Given the description of an element on the screen output the (x, y) to click on. 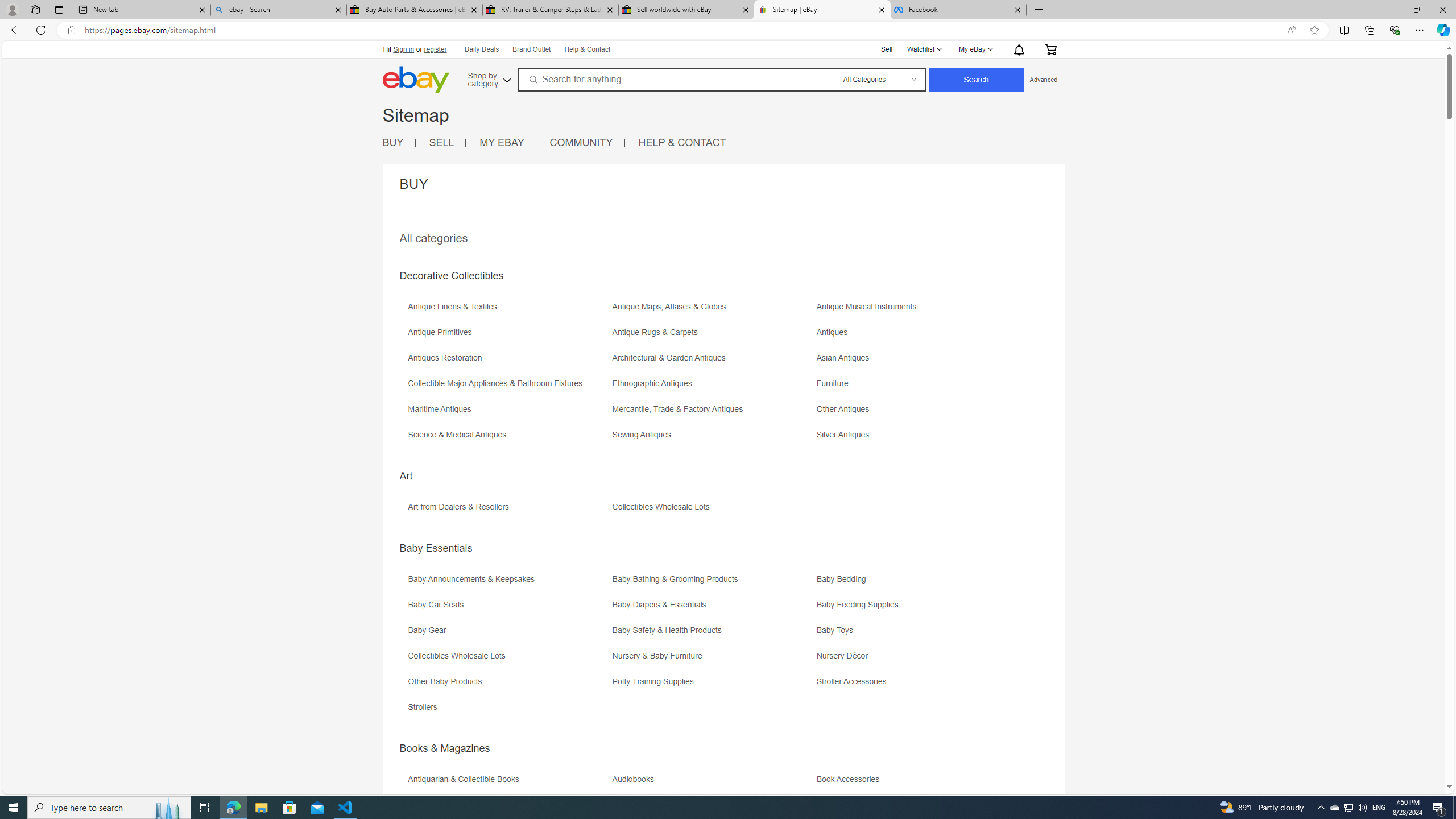
Close (1442, 9)
COMMUNITY (586, 142)
Sell (887, 49)
Audiobooks (635, 779)
Potty Training Supplies (654, 681)
Minimize (1390, 9)
Daily Deals (480, 49)
App bar (728, 29)
Antique Linens & Textiles (454, 306)
Antique Linens & Textiles (508, 310)
eBay Logo (415, 79)
My eBay (975, 49)
Sell (886, 48)
Baby Bedding (844, 579)
ebay - Search (277, 9)
